Given the description of an element on the screen output the (x, y) to click on. 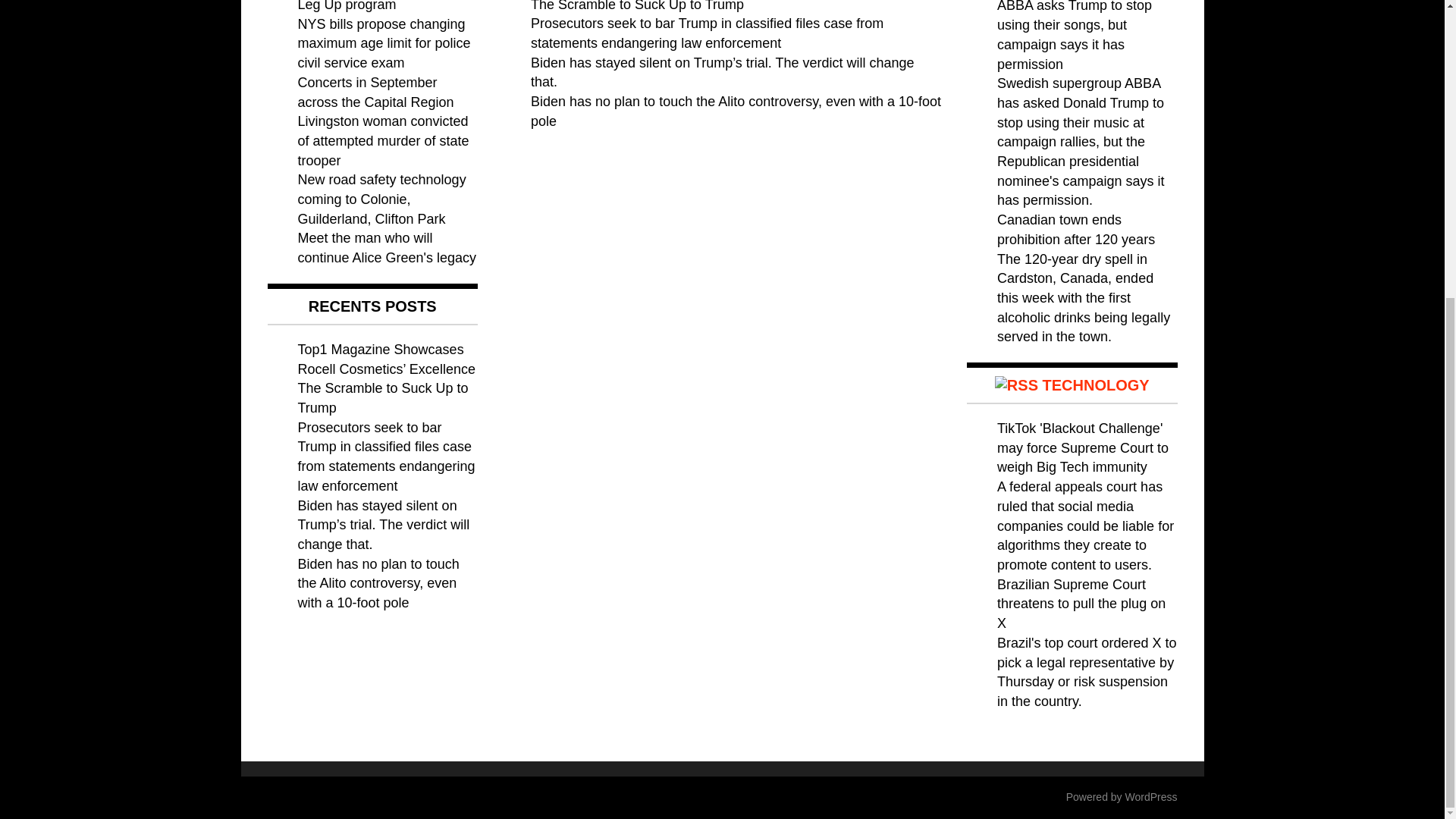
Discovering Saratoga: NYRA Leg Up program (384, 6)
The Scramble to Suck Up to Trump (382, 397)
Brazilian Supreme Court threatens to pull the plug on X (1081, 603)
Meet the man who will continue Alice Green's legacy (386, 247)
